Given the description of an element on the screen output the (x, y) to click on. 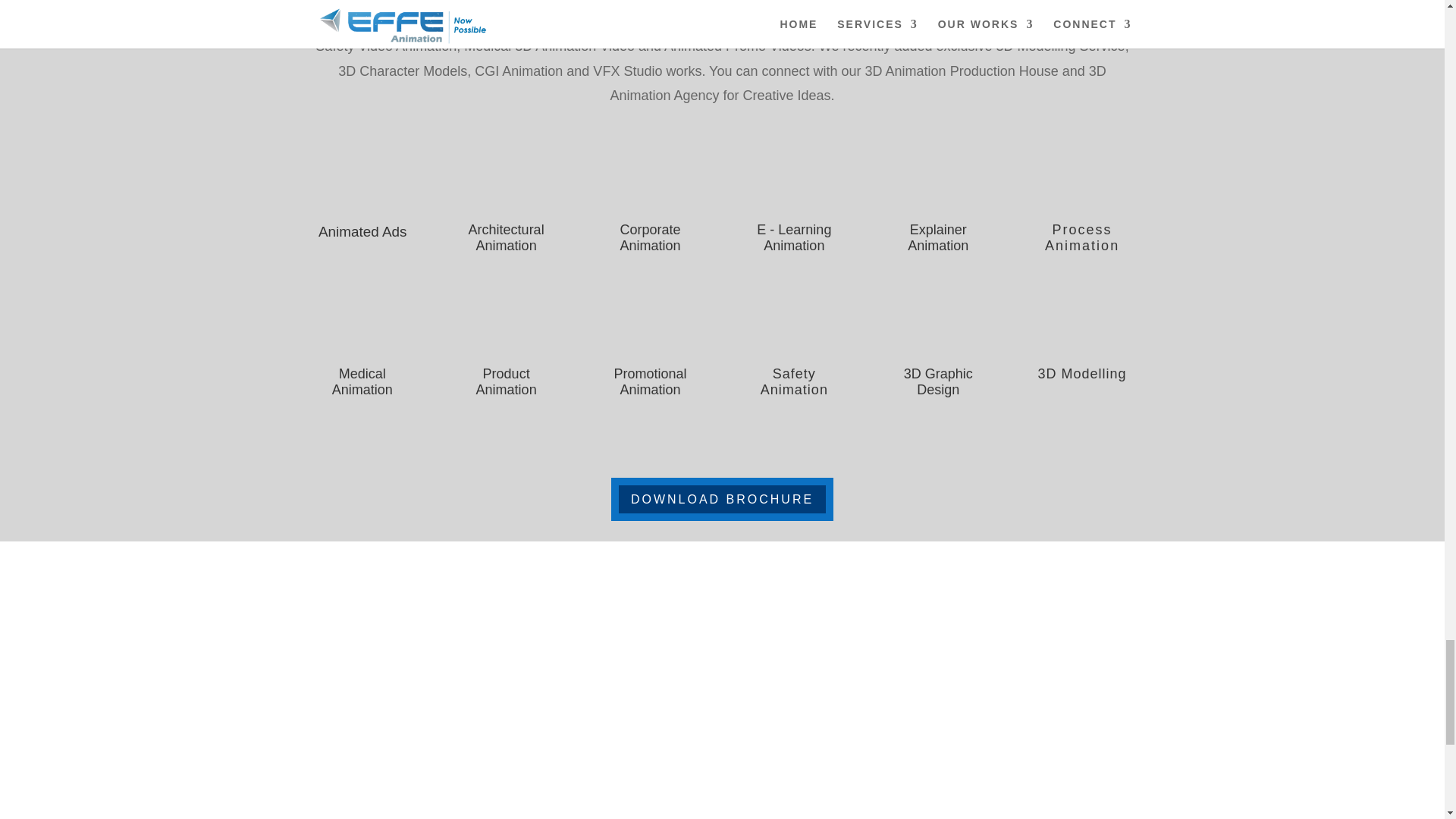
Animated Ads (359, 231)
